Given the description of an element on the screen output the (x, y) to click on. 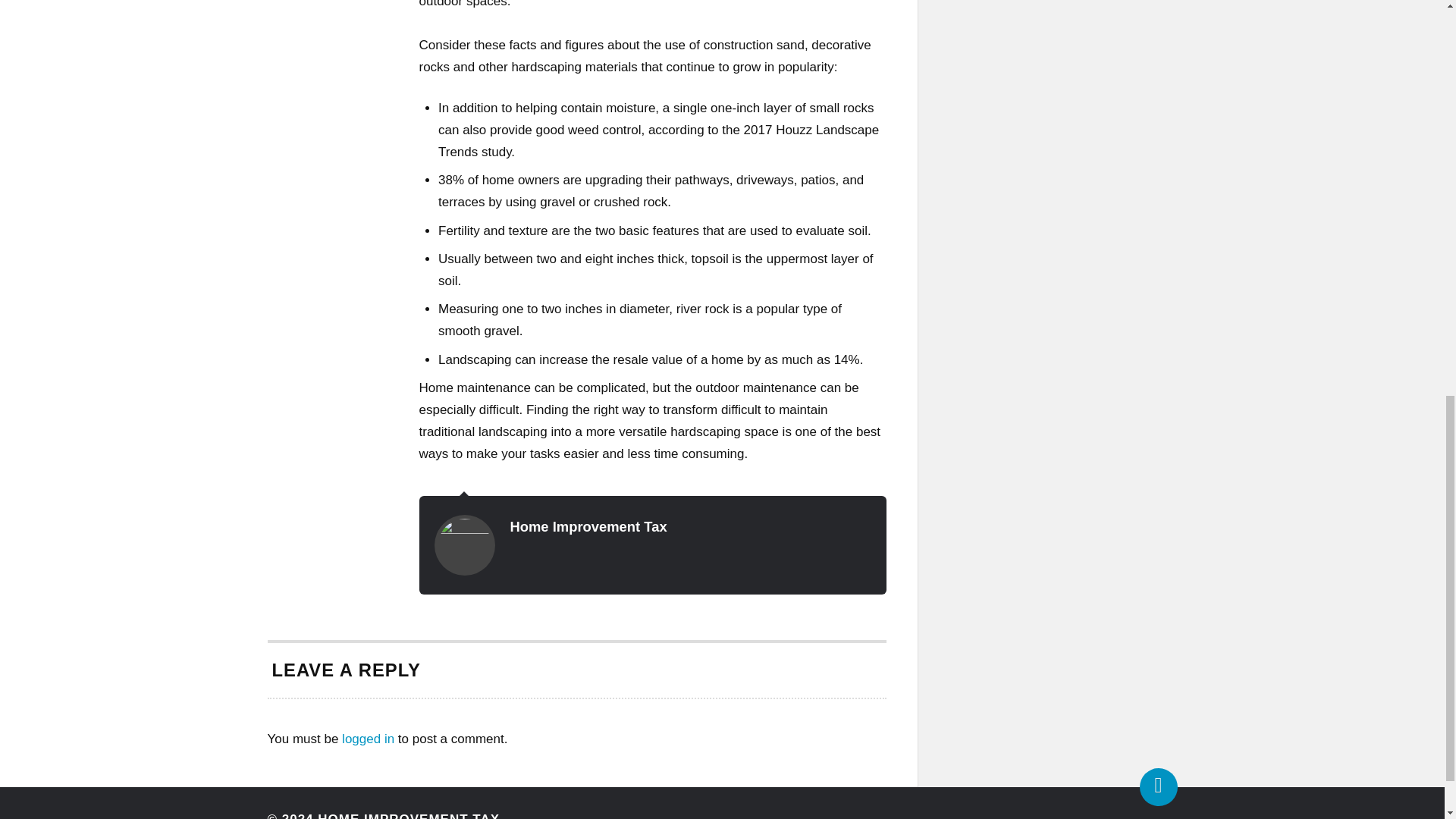
HOME IMPROVEMENT TAX (408, 815)
logged in (327, 1)
Home Improvement Tax (368, 739)
